Given the description of an element on the screen output the (x, y) to click on. 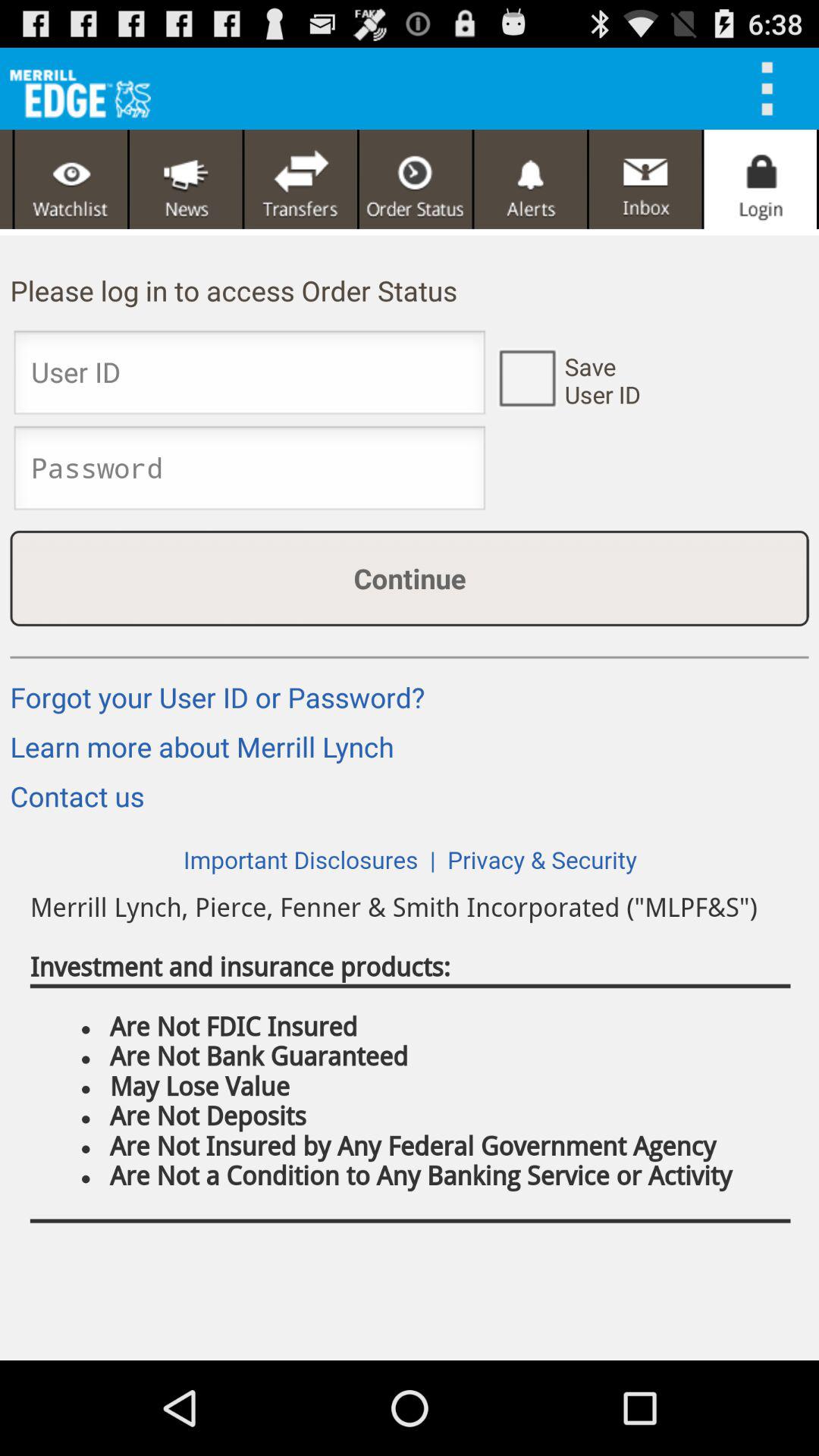
dada (300, 179)
